Given the description of an element on the screen output the (x, y) to click on. 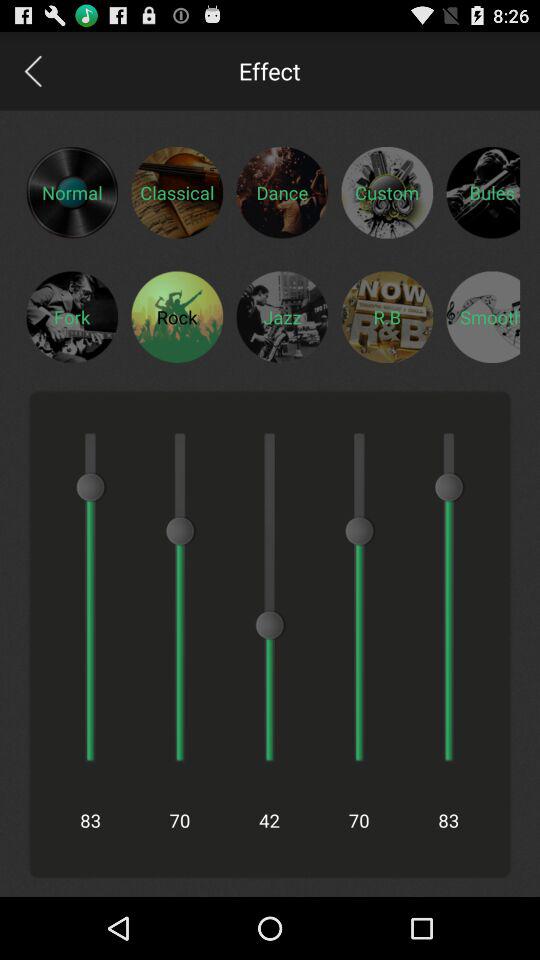
select playlist (483, 316)
